Given the description of an element on the screen output the (x, y) to click on. 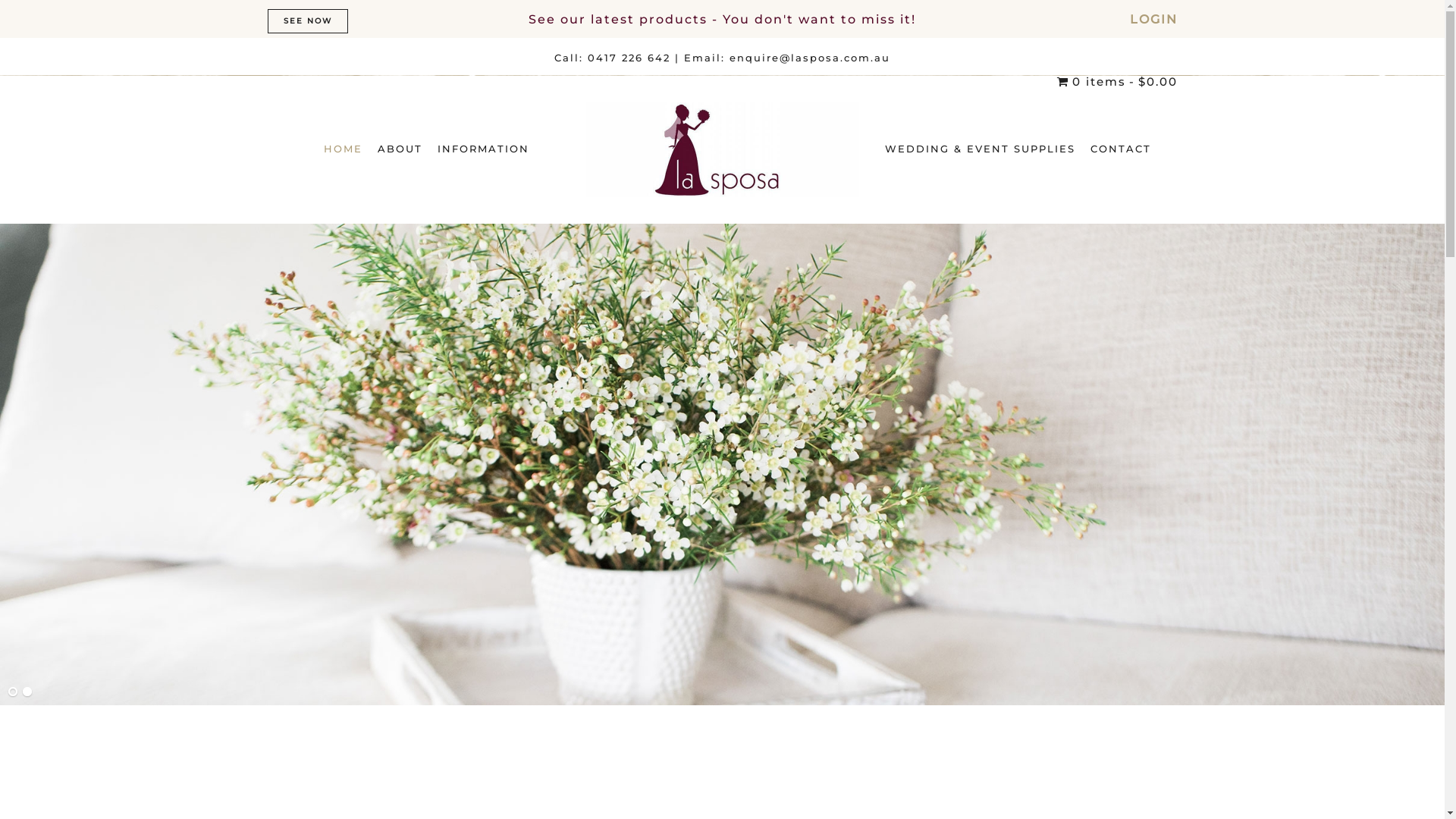
INFORMATION Element type: text (482, 148)
CONTACT Element type: text (1120, 148)
0 items$0.00 Element type: text (1116, 81)
WEDDING & EVENT SUPPLIES Element type: text (979, 148)
enquire@lasposa.com.au Element type: text (809, 57)
LA SPOSA Element type: text (721, 149)
SEE NOW Element type: text (306, 21)
LOGIN Element type: text (1153, 19)
HOME Element type: text (343, 148)
ABOUT Element type: text (399, 148)
